Given the description of an element on the screen output the (x, y) to click on. 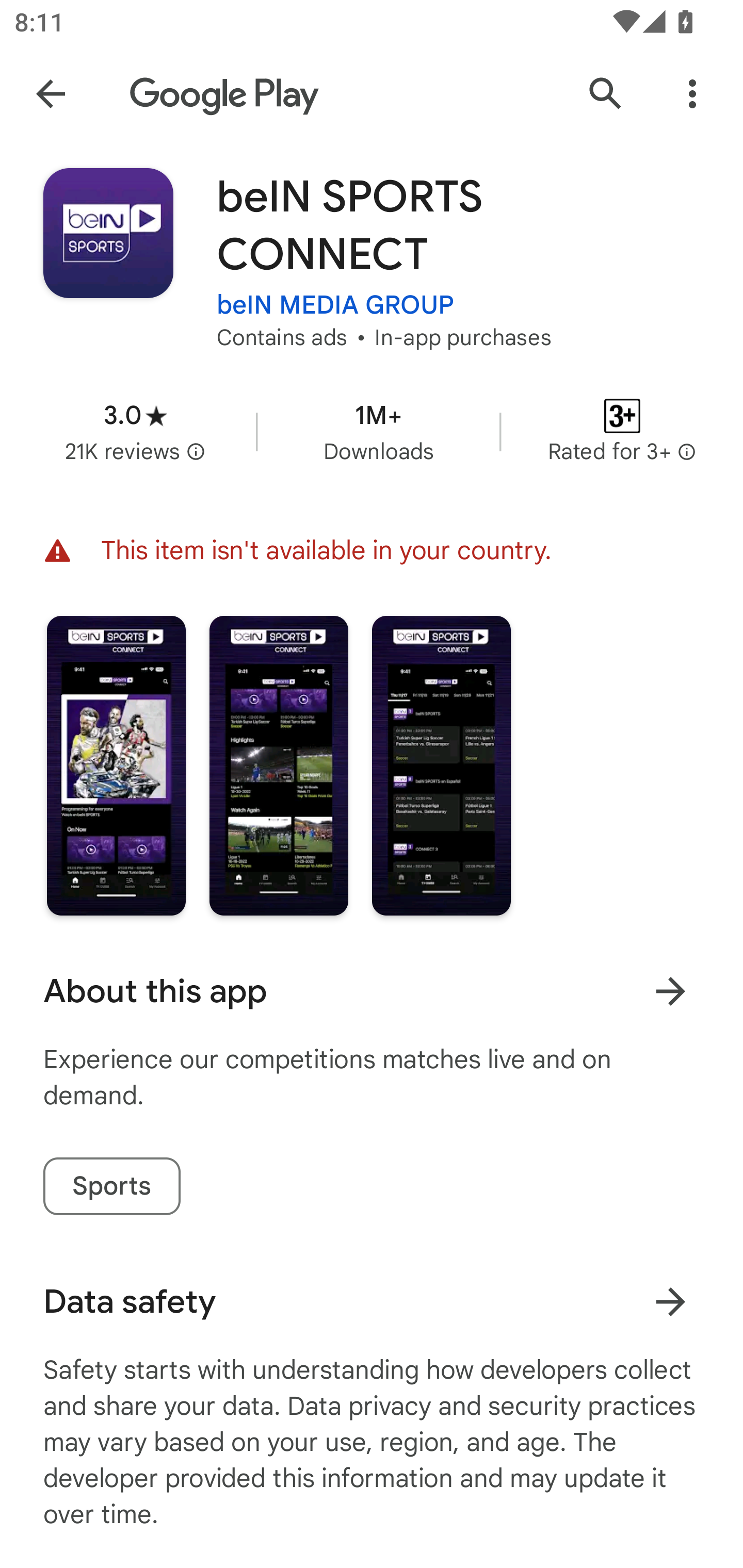
Navigate up (50, 93)
Search Google Play (605, 93)
More Options (692, 93)
beIN MEDIA GROUP (334, 304)
Average rating 3.0 stars in 21 thousand reviews (135, 431)
Content rating Rated for 3+ (622, 431)
Screenshot "1" of "3" (115, 765)
Screenshot "2" of "3" (278, 765)
Screenshot "3" of "3" (441, 765)
About this app Learn more About this app (371, 990)
Learn more About this app (670, 991)
Sports tag (111, 1186)
Data safety Learn more about data safety (371, 1301)
Learn more about data safety (670, 1302)
